Given the description of an element on the screen output the (x, y) to click on. 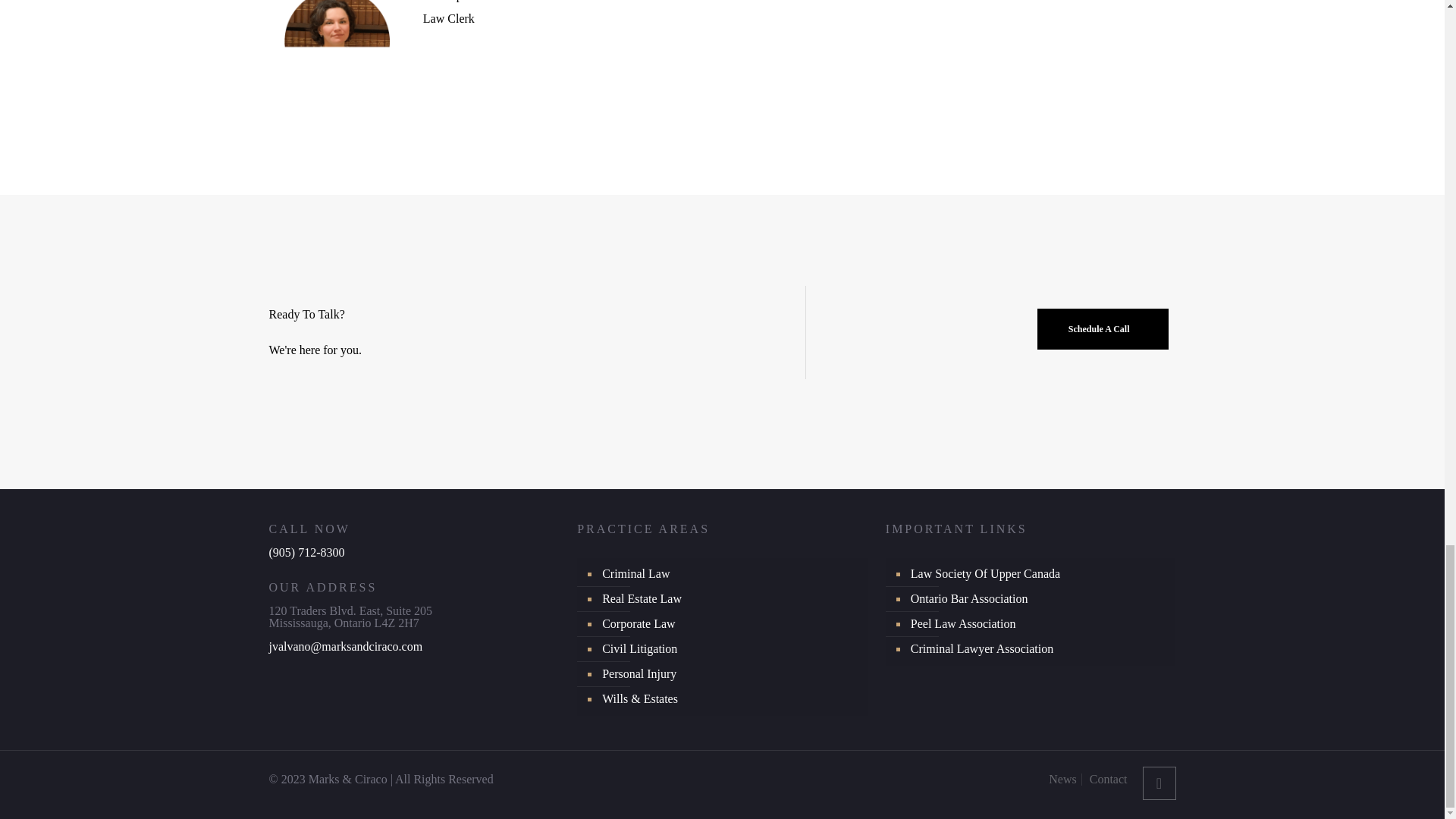
Contact (1107, 779)
Schedule A Call (1102, 328)
Criminal Lawyer Association (1038, 649)
Corporate Law (729, 624)
Personal Injury (729, 674)
News (1061, 779)
Civil Litigation (729, 649)
Peel Law Association (1038, 624)
Real Estate Law (729, 599)
Criminal Law (729, 574)
